Given the description of an element on the screen output the (x, y) to click on. 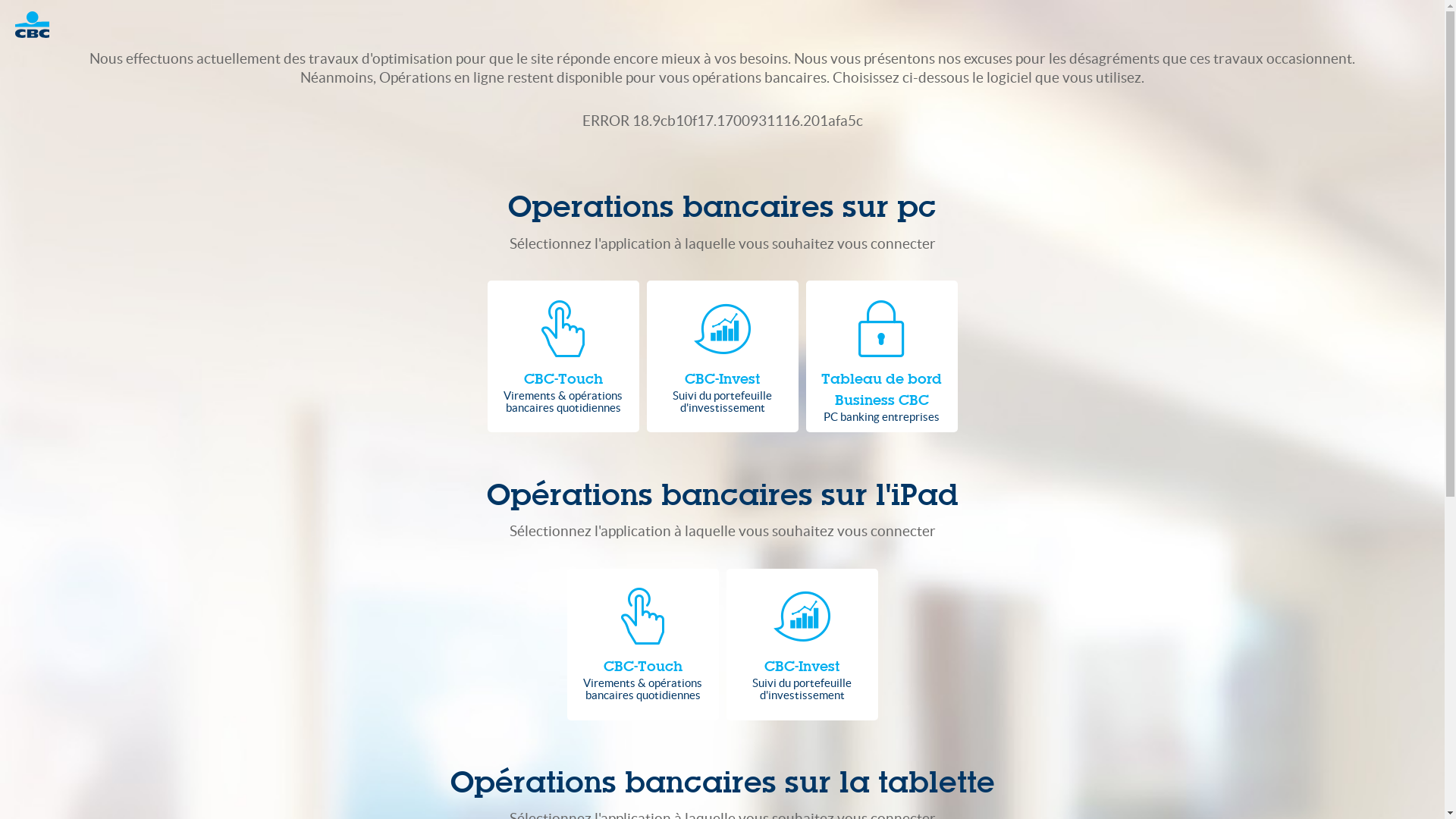
CBC-Invest
Suivi du portefeuille d'investissement Element type: text (802, 644)
CBC-Invest
Suivi du portefeuille d'investissement Element type: text (721, 356)
Tableau de bord Business CBC
PC banking entreprises Element type: text (881, 356)
Logo Element type: text (39, 24)
